Given the description of an element on the screen output the (x, y) to click on. 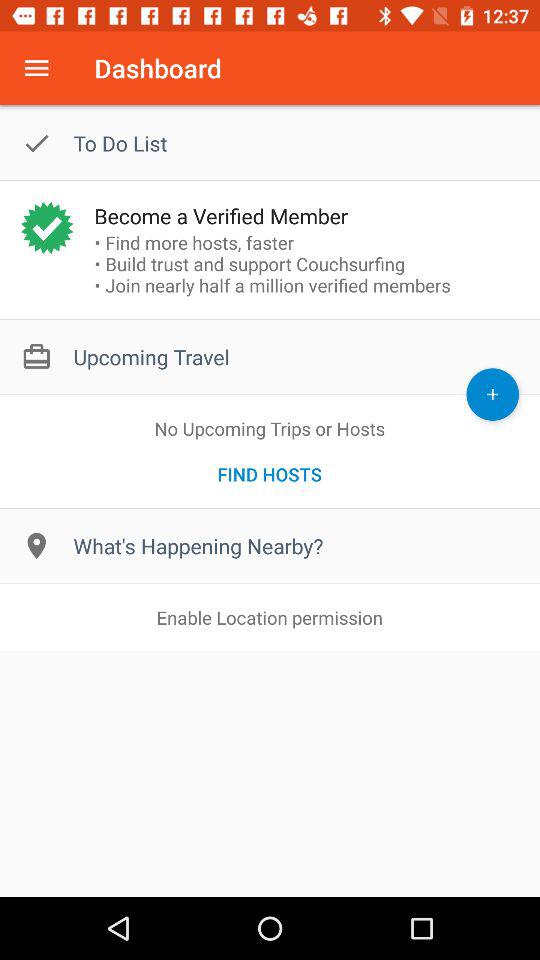
open menu (36, 68)
